Given the description of an element on the screen output the (x, y) to click on. 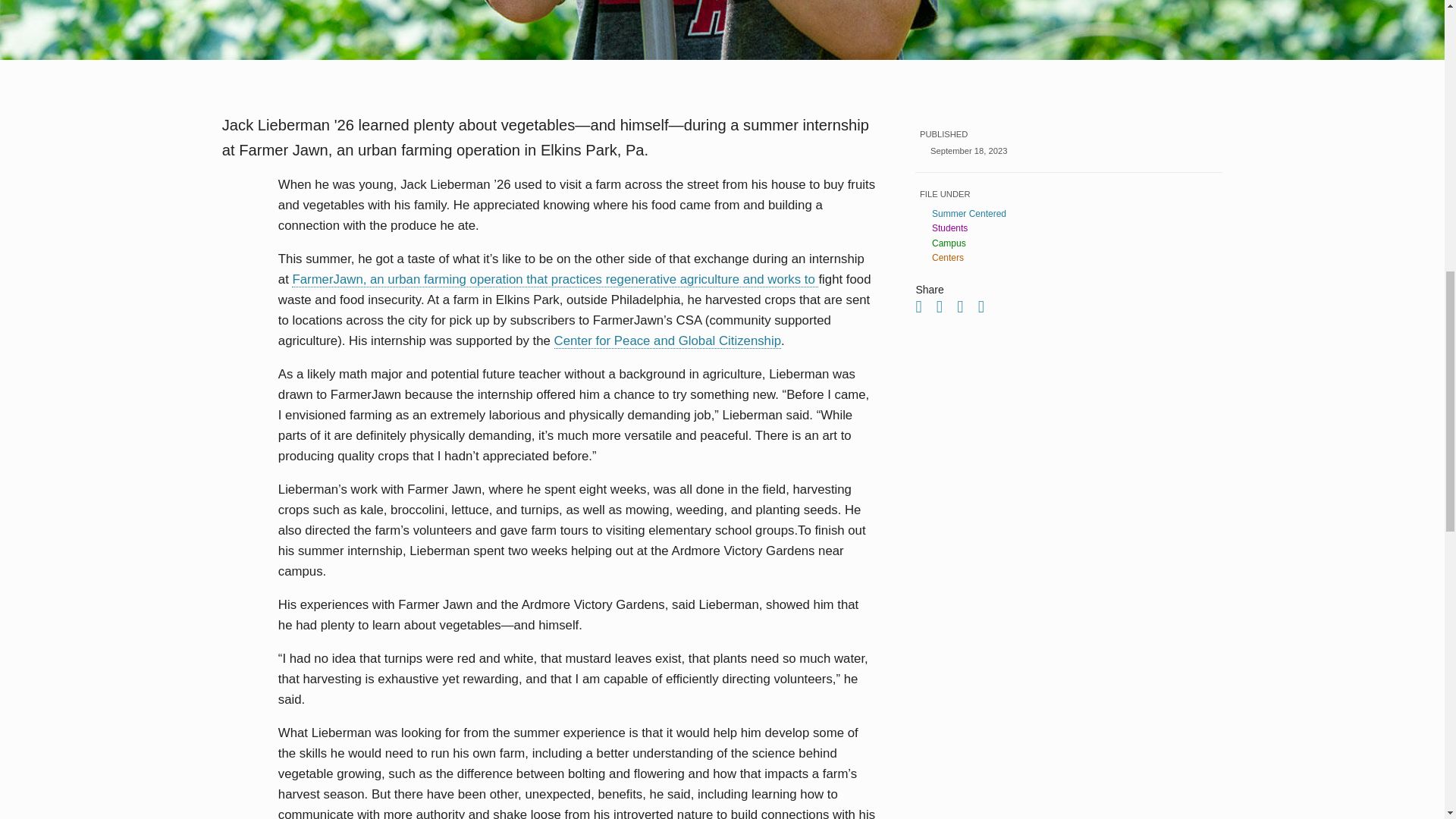
Students (1074, 227)
Centers (1074, 257)
Campus (1074, 243)
Center for Peace and Global Citizenship (667, 340)
Summer Centered (1074, 213)
